Given the description of an element on the screen output the (x, y) to click on. 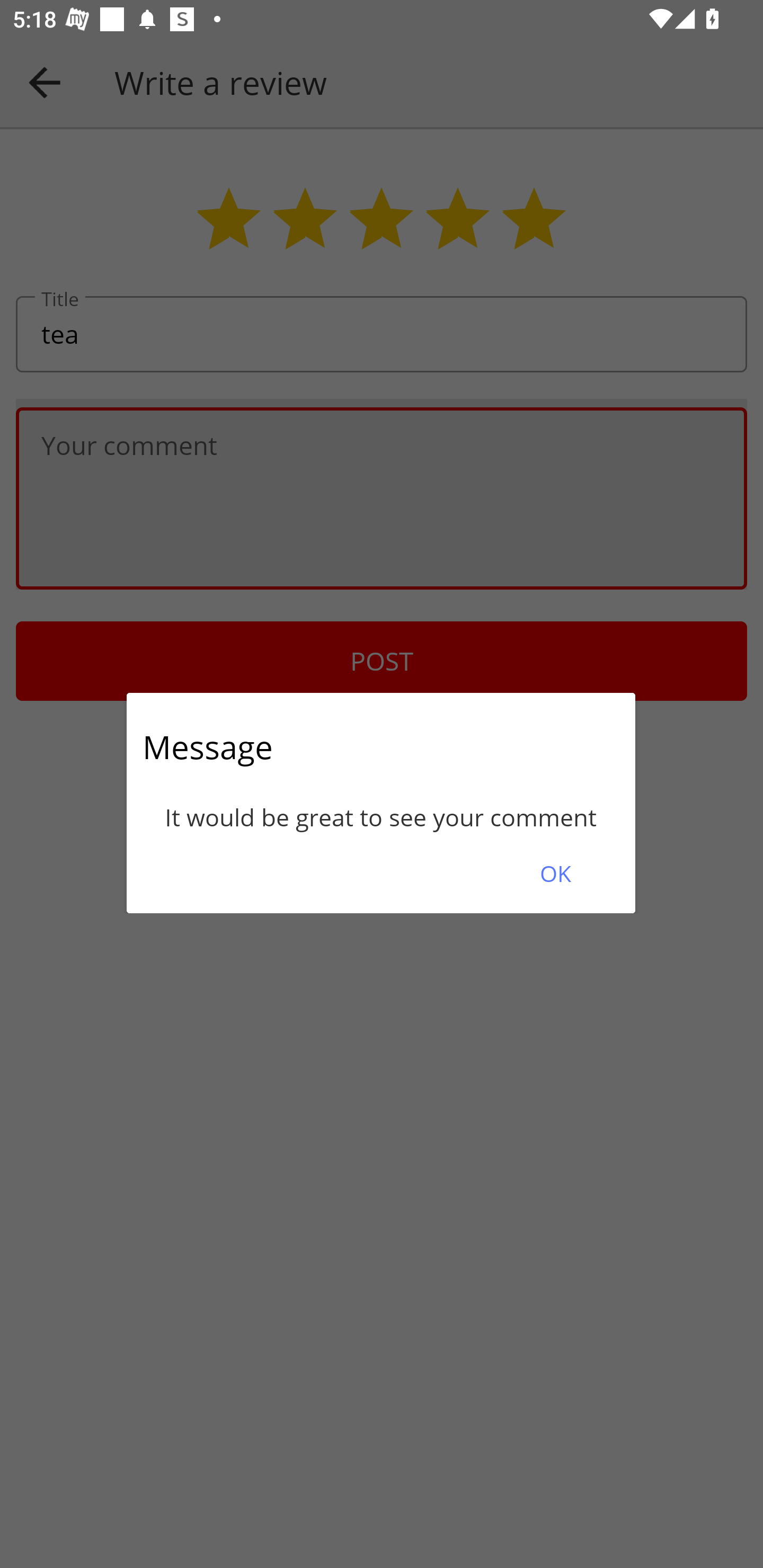
OK (555, 873)
